Given the description of an element on the screen output the (x, y) to click on. 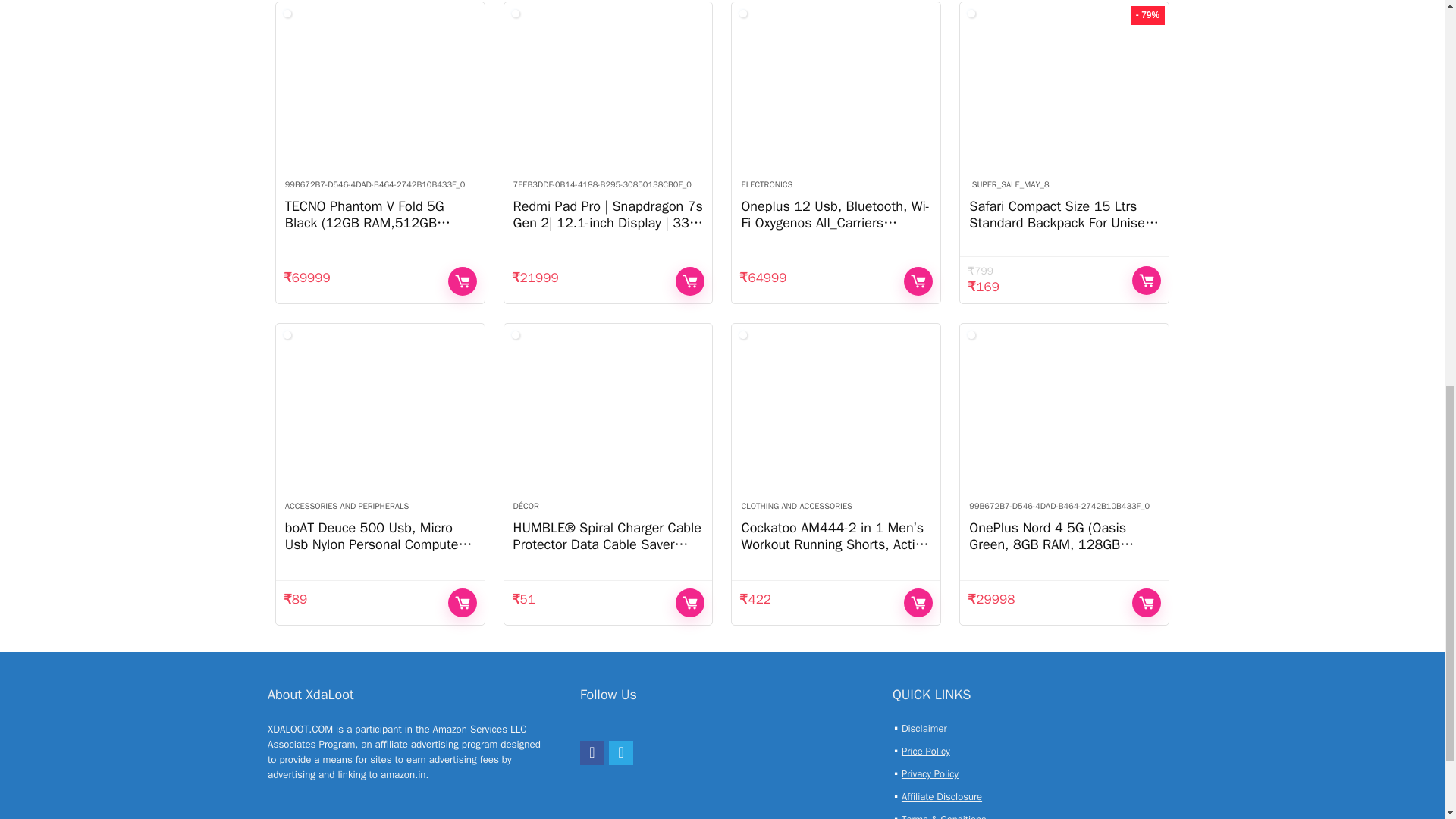
SHOP NOW AT AMAZON.IN (918, 280)
SHOP NOW AT AMAZON.IN (689, 280)
SHOP NOW AT AMAZON.IN (462, 280)
ELECTRONICS (766, 184)
